Given the description of an element on the screen output the (x, y) to click on. 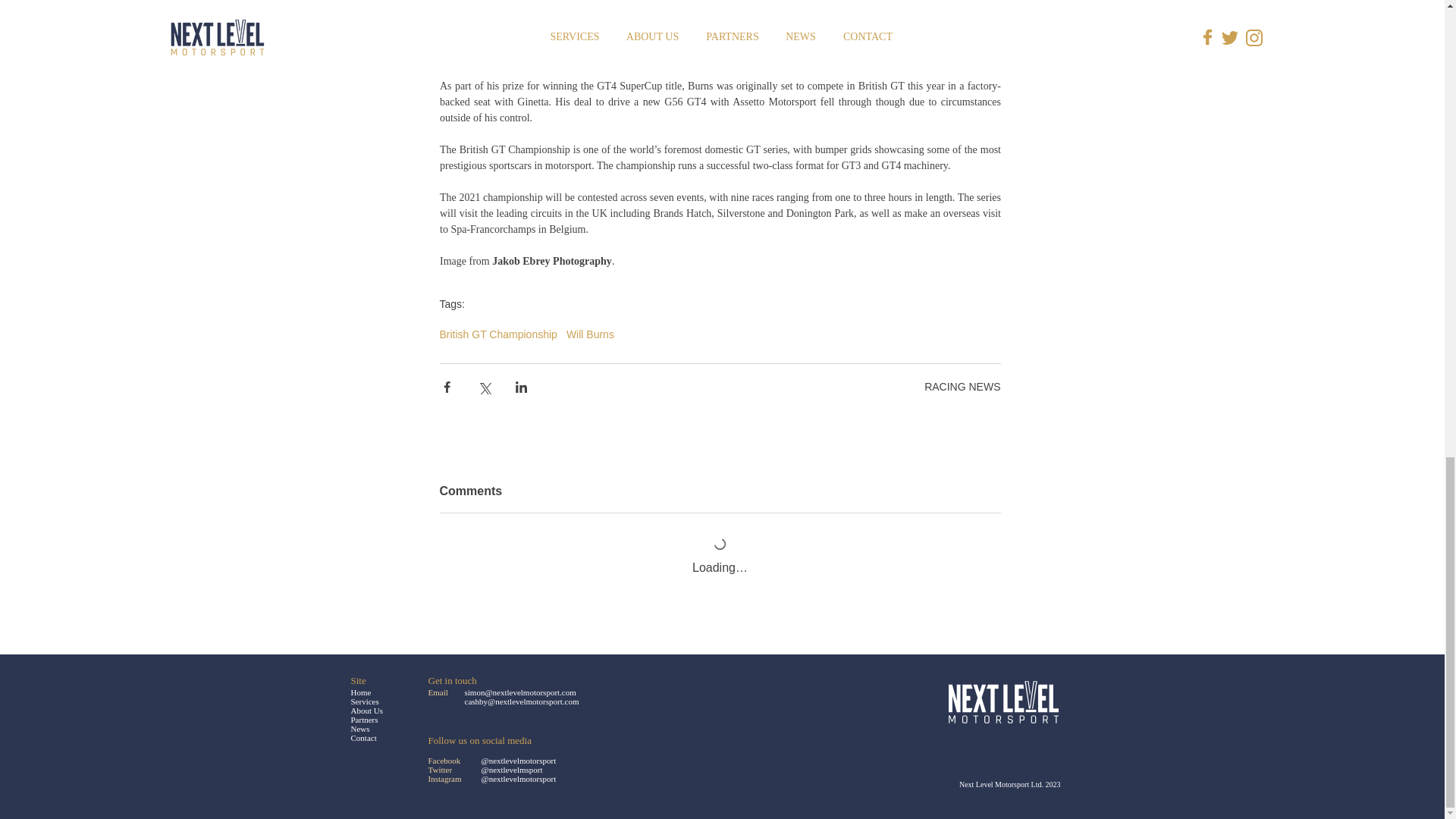
Partners (363, 718)
RACING NEWS (962, 386)
Facebook (444, 759)
British GT Championship (498, 334)
Services (364, 700)
About Us (365, 709)
Will Burns (590, 334)
News (359, 728)
Home (360, 691)
Contact (362, 737)
